Given the description of an element on the screen output the (x, y) to click on. 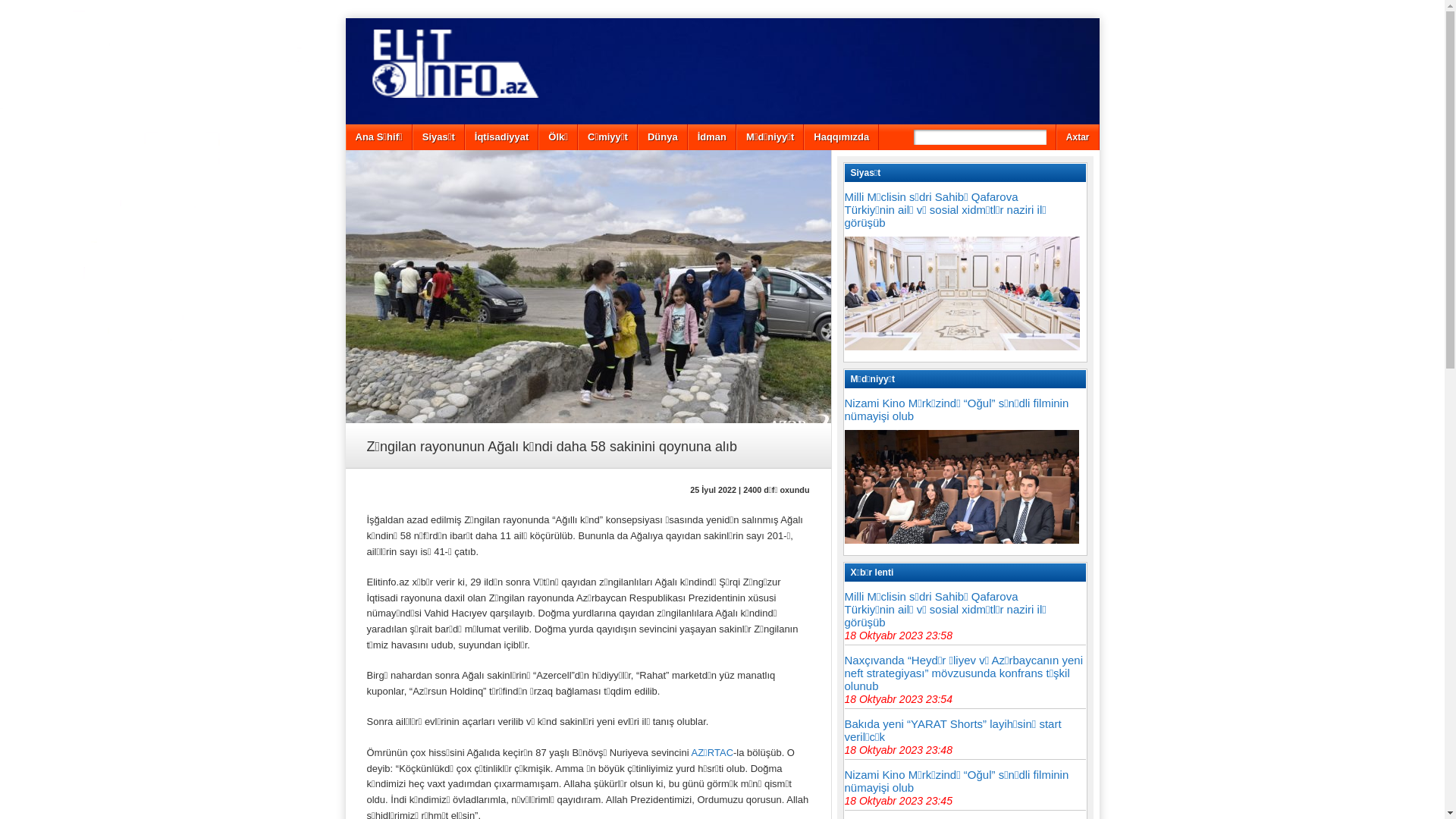
Axtar Element type: text (1077, 137)
